Given the description of an element on the screen output the (x, y) to click on. 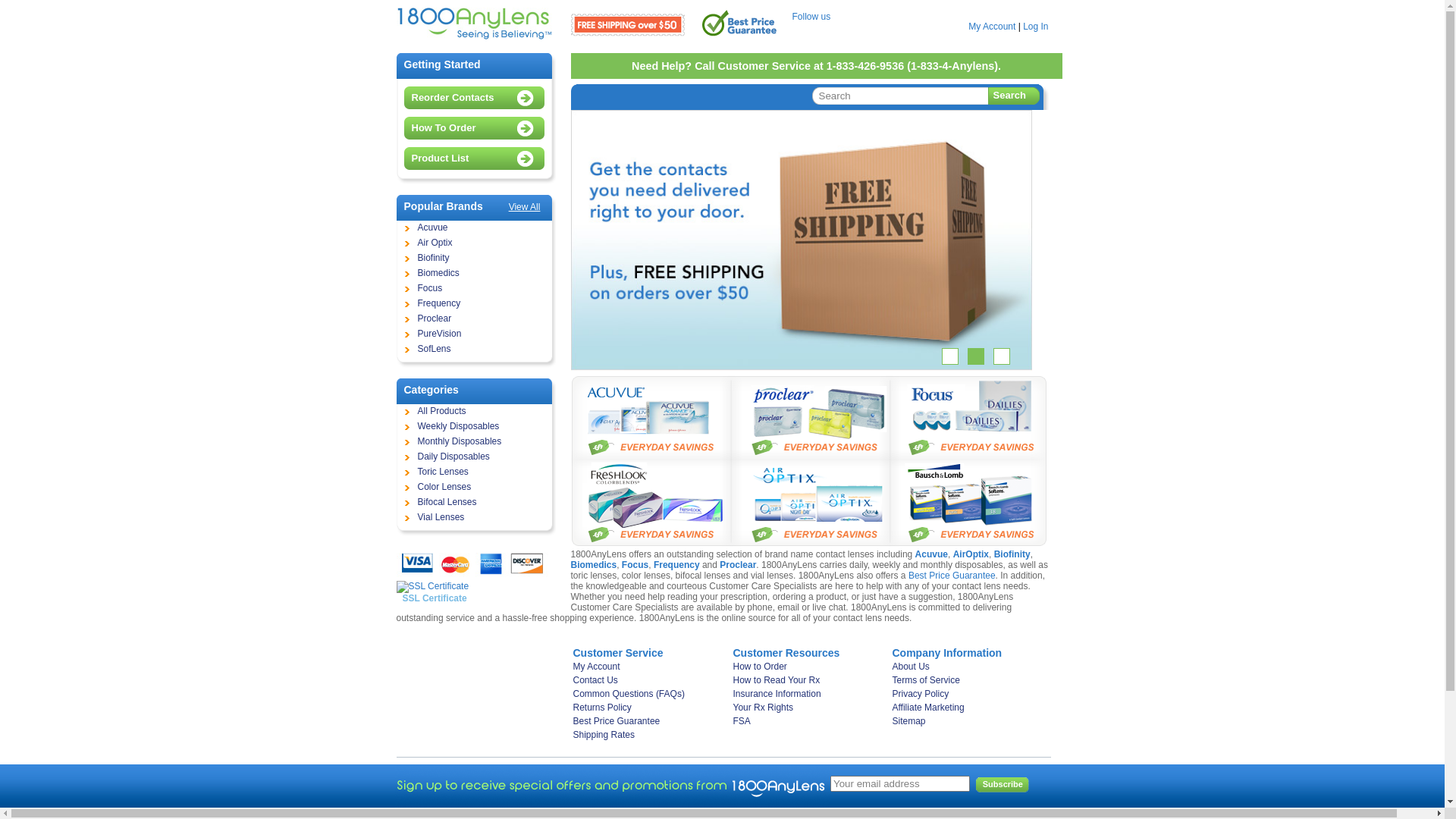
2 Element type: text (975, 356)
1 Element type: text (949, 356)
Product List Element type: text (477, 158)
Toric Lenses Element type: text (474, 472)
Frequency Element type: text (676, 564)
Vial Lenses Element type: text (474, 517)
Proclear Element type: text (474, 318)
Bifocal Lenses Element type: text (474, 502)
Biofinity Element type: text (474, 258)
Affiliate Marketing Element type: text (965, 707)
About Us Element type: text (965, 666)
Your Rx Rights Element type: text (808, 707)
Best Price Guarantee Element type: text (649, 721)
My Account Element type: text (991, 26)
Biomedics Element type: text (593, 564)
Subscribe Element type: text (1002, 784)
Sitemap Element type: text (965, 721)
Biomedics Element type: text (474, 273)
Focus Element type: text (474, 288)
3 Element type: text (1001, 356)
Acuvue Element type: text (931, 554)
Privacy Policy Element type: text (965, 693)
Terms of Service Element type: text (965, 680)
Log In Element type: text (1035, 26)
My Account Element type: text (649, 666)
Follow us Element type: text (810, 16)
Returns Policy Element type: text (649, 707)
Monthly Disposables Element type: text (474, 441)
PureVision Element type: text (474, 334)
Best Price Guarantee Element type: text (951, 575)
Contact Us Element type: text (649, 680)
Focus Element type: text (634, 564)
Insurance Information Element type: text (808, 693)
Daily Disposables Element type: text (474, 456)
How to Order Element type: text (808, 666)
FSA Element type: text (808, 721)
SofLens Element type: text (474, 349)
Proclear Element type: text (737, 564)
Common Questions (FAQs) Element type: text (649, 693)
Air Optix Element type: text (474, 243)
Shipping Rates Element type: text (649, 734)
View All Element type: text (524, 206)
Weekly Disposables Element type: text (474, 426)
SSL Certificate Element type: text (431, 591)
Acuvue Element type: text (474, 227)
Biofinity Element type: text (1012, 554)
Color Lenses Element type: text (474, 487)
All Products Element type: text (474, 411)
AirOptix Element type: text (970, 554)
How To Order Element type: text (477, 127)
Search Element type: text (1015, 97)
How to Read Your Rx Element type: text (808, 680)
Frequency Element type: text (474, 303)
Reorder Contacts Element type: text (477, 97)
